Given the description of an element on the screen output the (x, y) to click on. 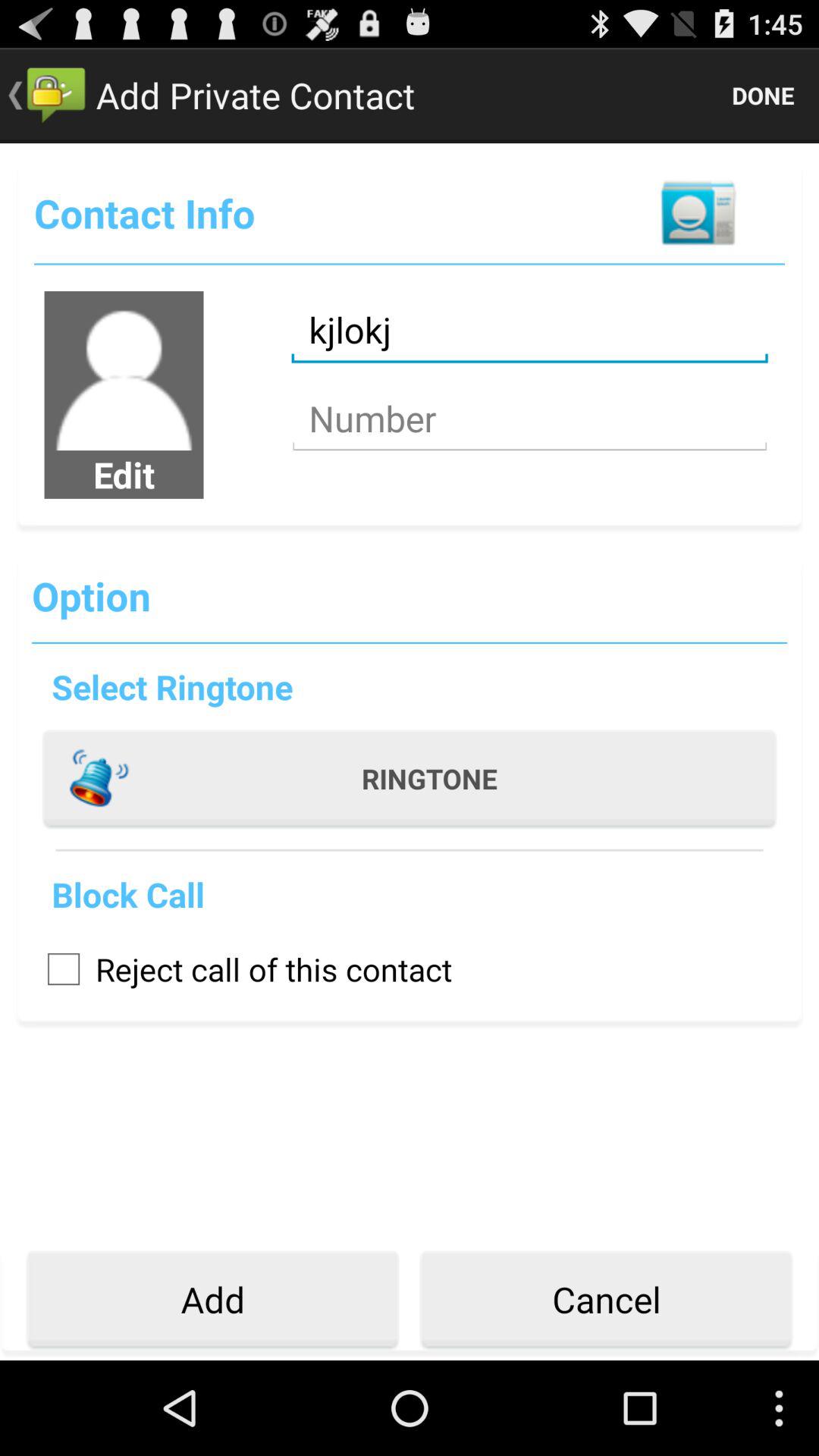
open the icon below the kjlokj (529, 418)
